Given the description of an element on the screen output the (x, y) to click on. 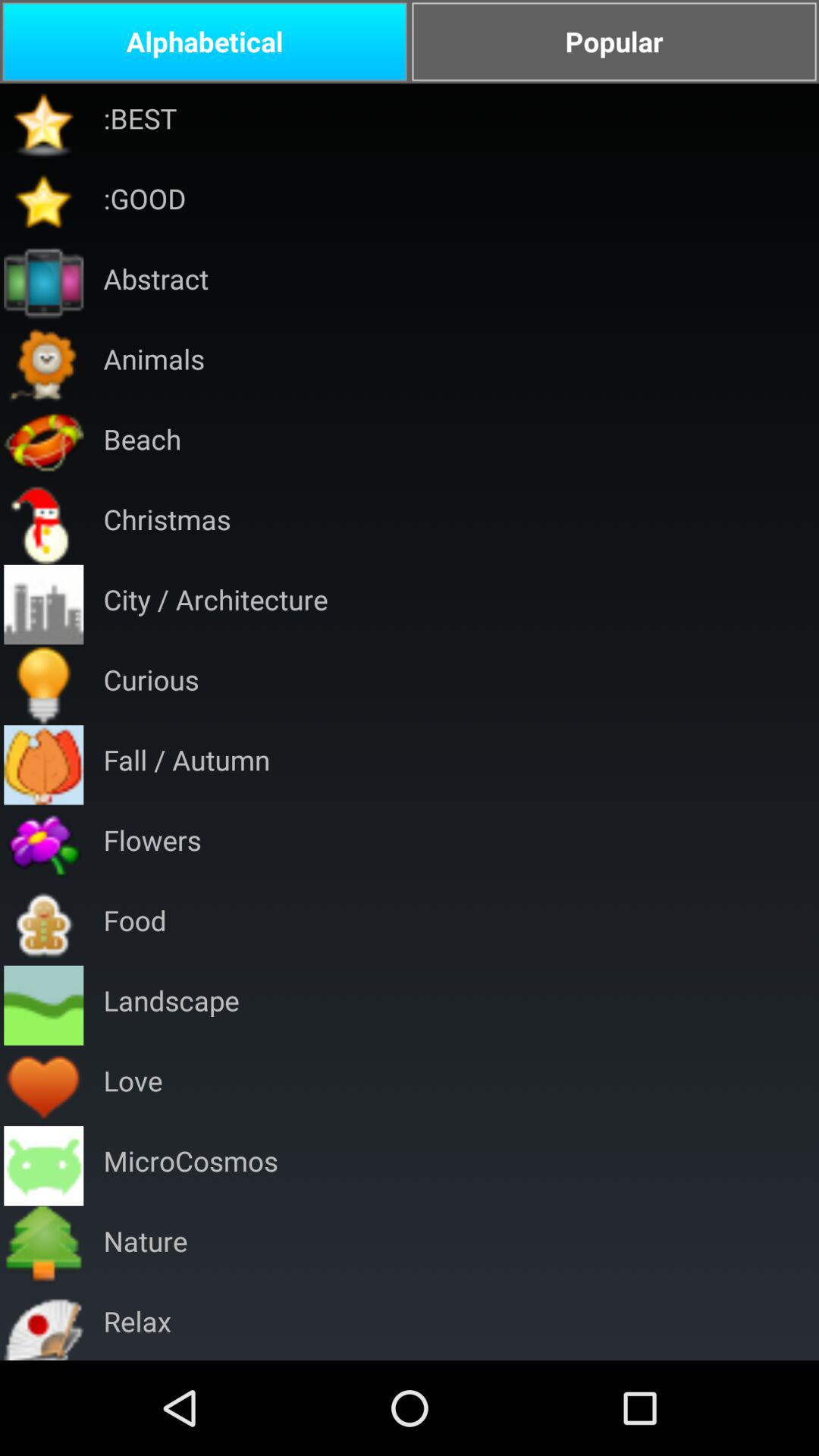
jump until the fall / autumn icon (186, 764)
